Given the description of an element on the screen output the (x, y) to click on. 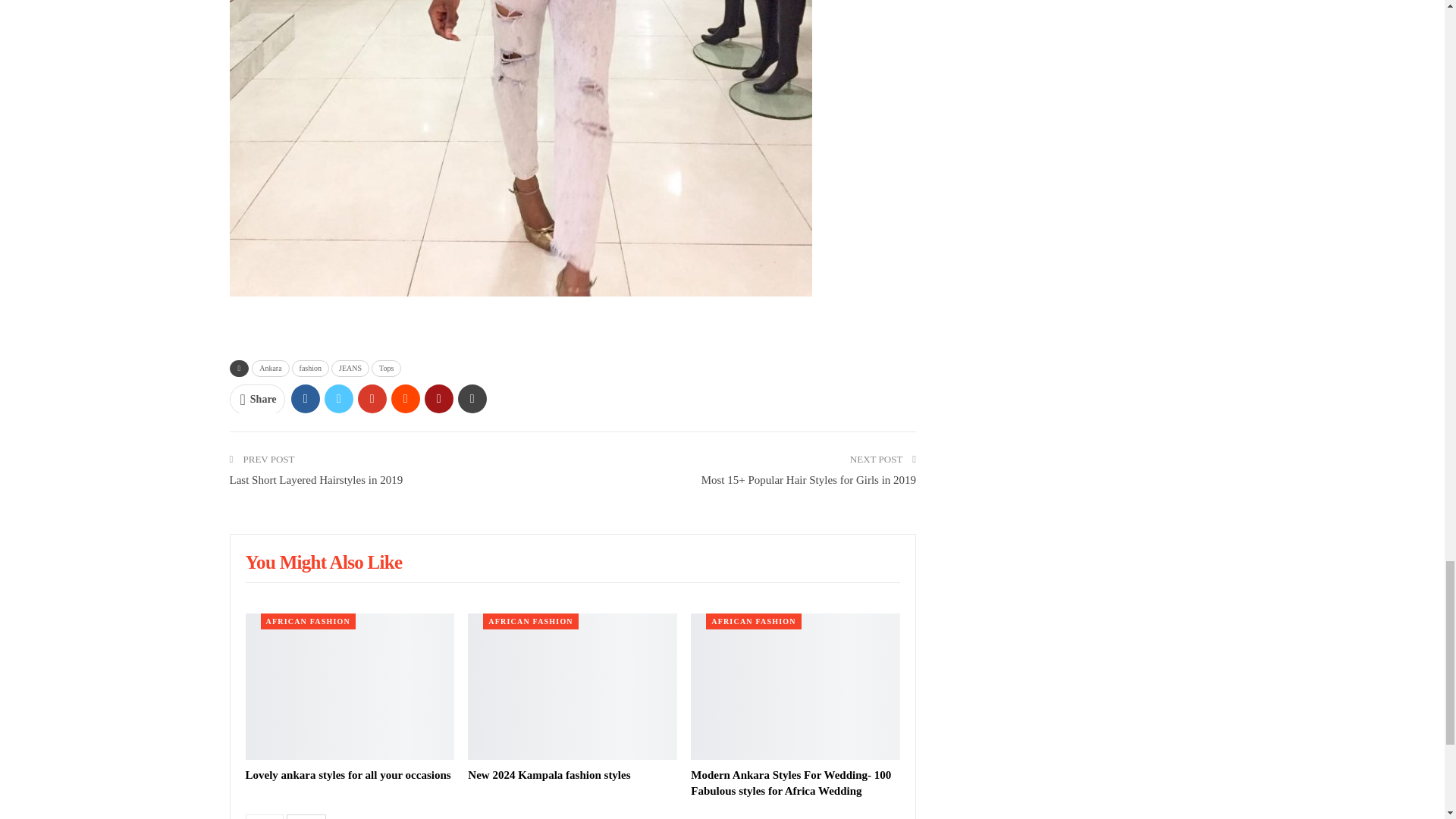
Previous (264, 816)
Lovely ankara styles for all your occasions (348, 775)
Ankara (269, 368)
fashion (310, 368)
Lovely ankara styles for all your occasions (350, 686)
Tops (386, 368)
You Might Also Like (324, 563)
New 2024 Kampala fashion styles (548, 775)
Last Short Layered Hairstyles in 2019 (315, 480)
